Given the description of an element on the screen output the (x, y) to click on. 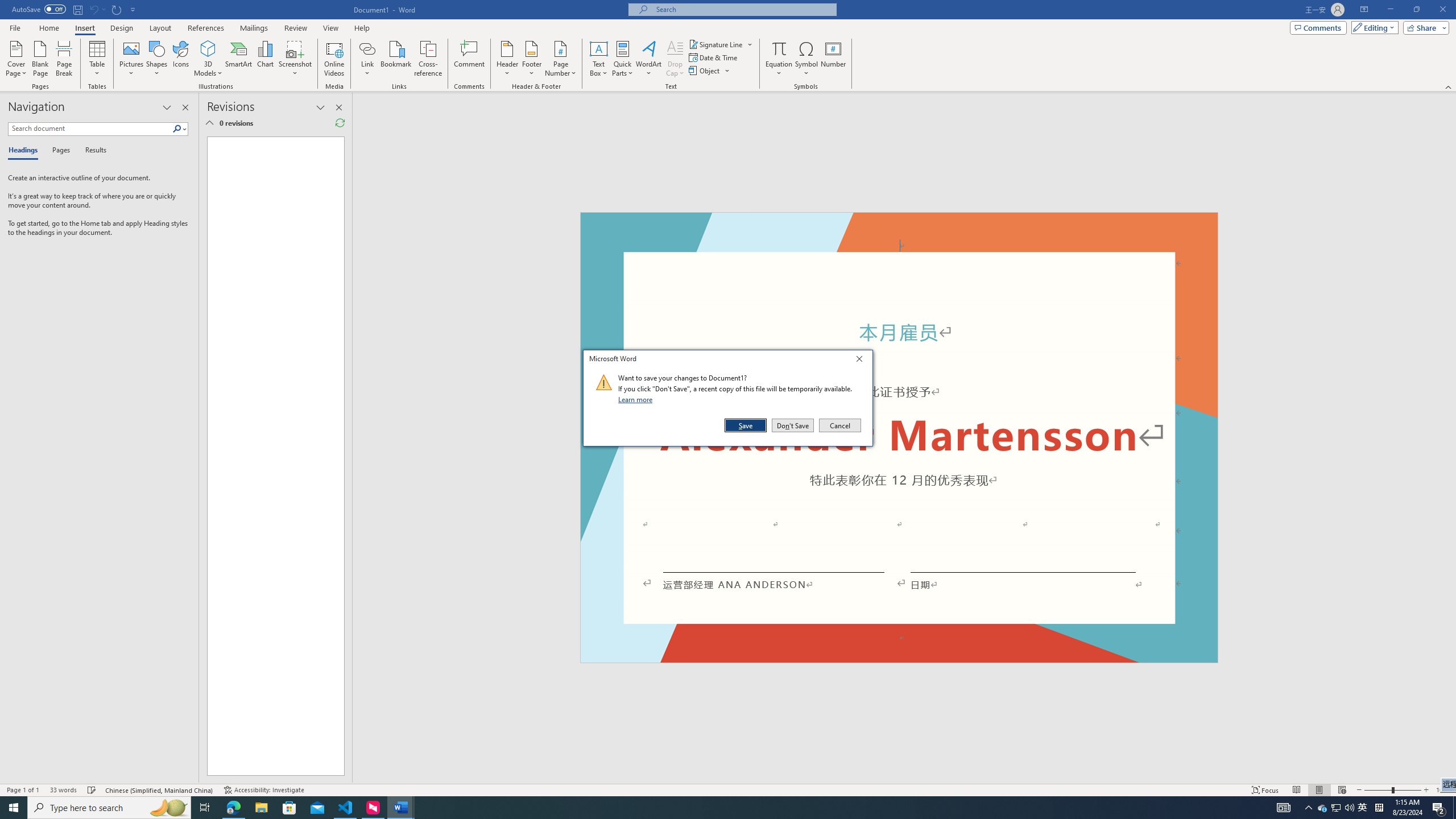
Layout (160, 28)
Zoom (1392, 790)
Icons (180, 58)
Footer -Section 1- (898, 657)
More Options (778, 68)
Screenshot (295, 58)
Action Center, 2 new notifications (1439, 807)
Notification Chevron (1308, 807)
Can't Undo (92, 9)
Help (361, 28)
System (6, 6)
Equation (778, 48)
Number... (833, 58)
Zoom 100% (1443, 790)
